Given the description of an element on the screen output the (x, y) to click on. 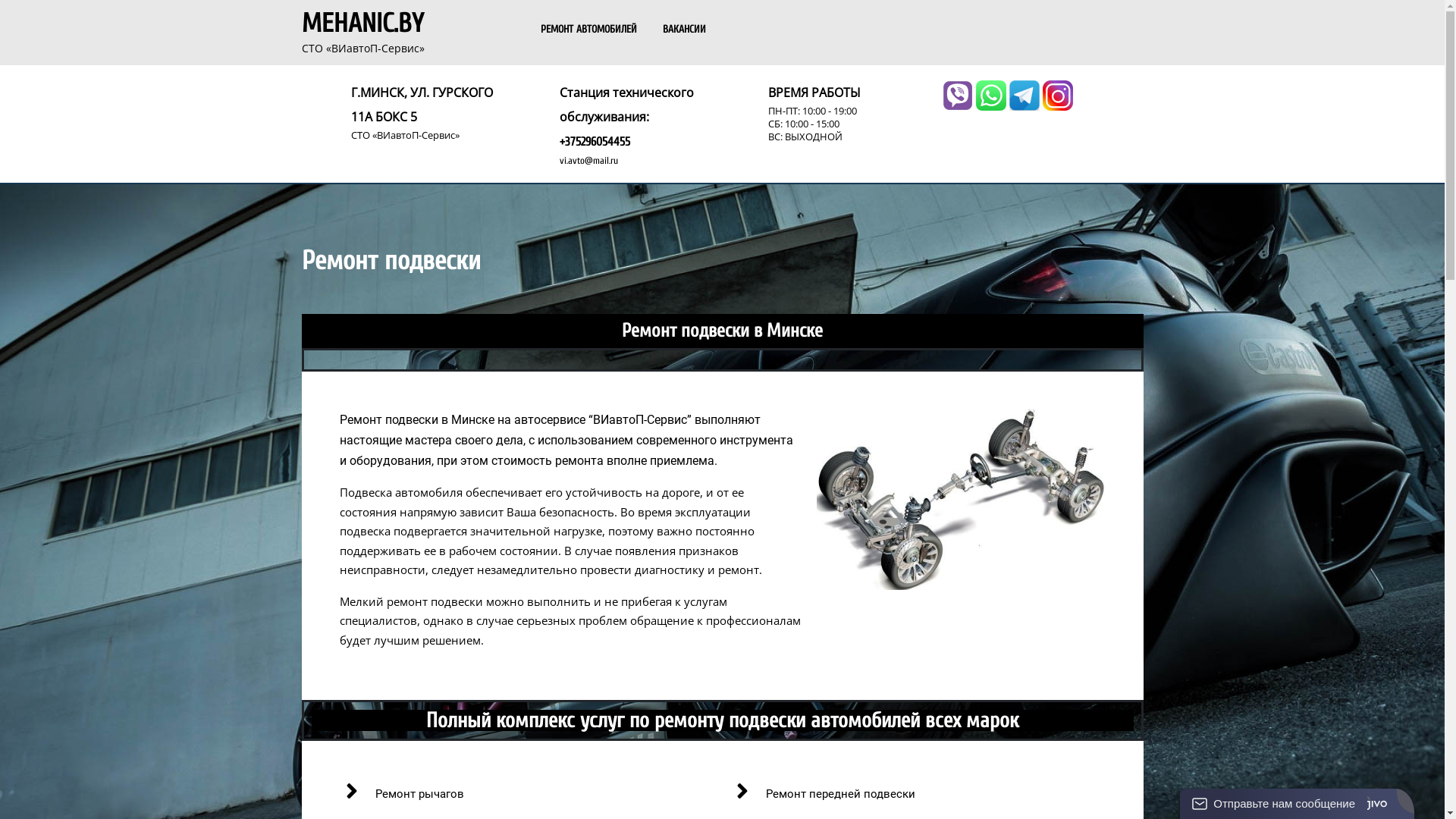
MEHANIC.BY Element type: text (362, 23)
+375296054455 Element type: text (594, 141)
vi.avto@mail.ru Element type: text (588, 160)
